Given the description of an element on the screen output the (x, y) to click on. 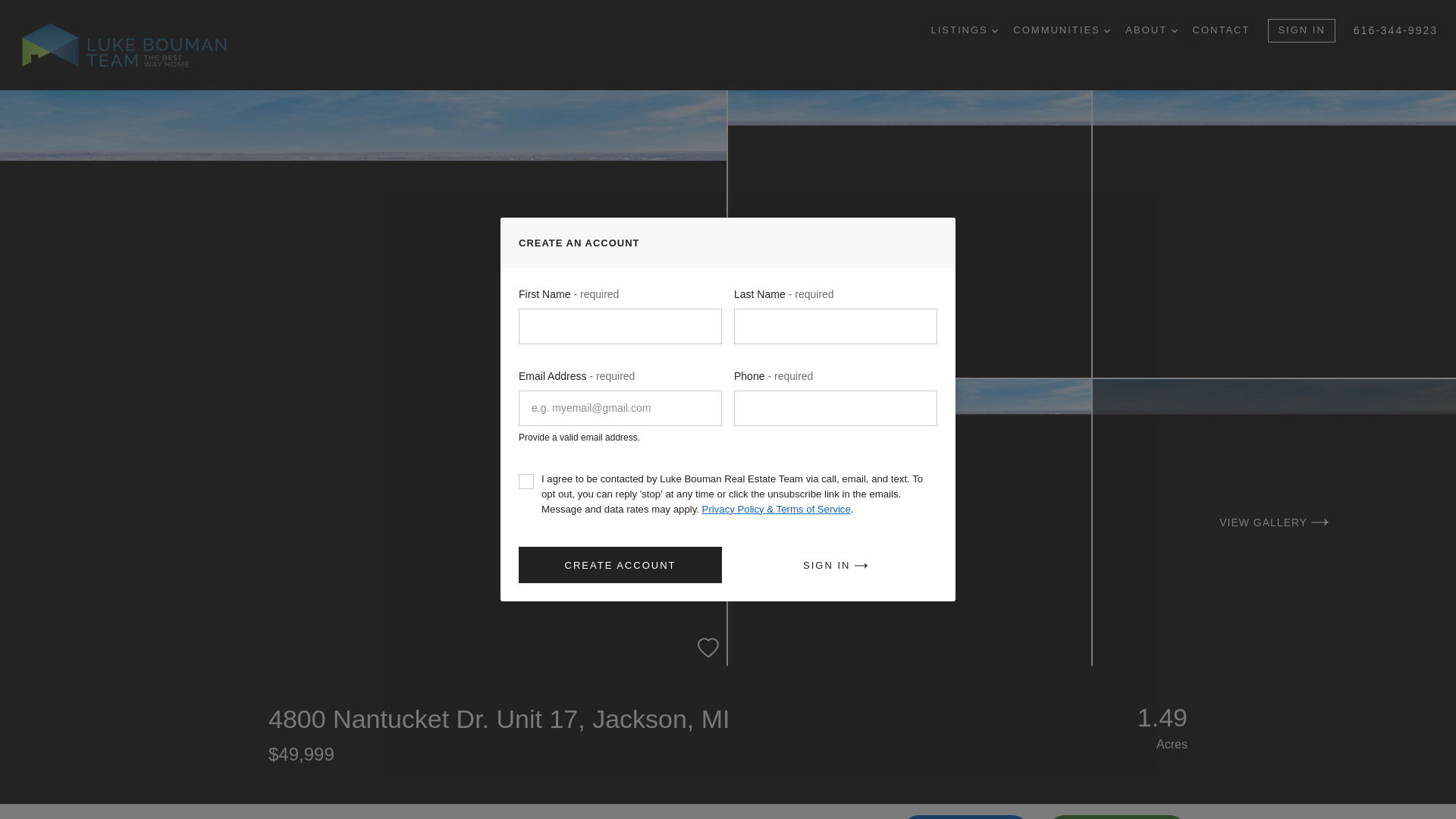
OVERVIEW (297, 811)
in (526, 481)
DROPDOWN ARROW (1106, 30)
DROPDOWN ARROW (994, 30)
SIGN IN (1301, 30)
616-344-9923 (1396, 29)
CONTACT (1221, 30)
LISTINGS DROPDOWN ARROW (963, 30)
ABOUT DROPDOWN ARROW (1150, 30)
COMMUNITIES DROPDOWN ARROW (1061, 30)
